Given the description of an element on the screen output the (x, y) to click on. 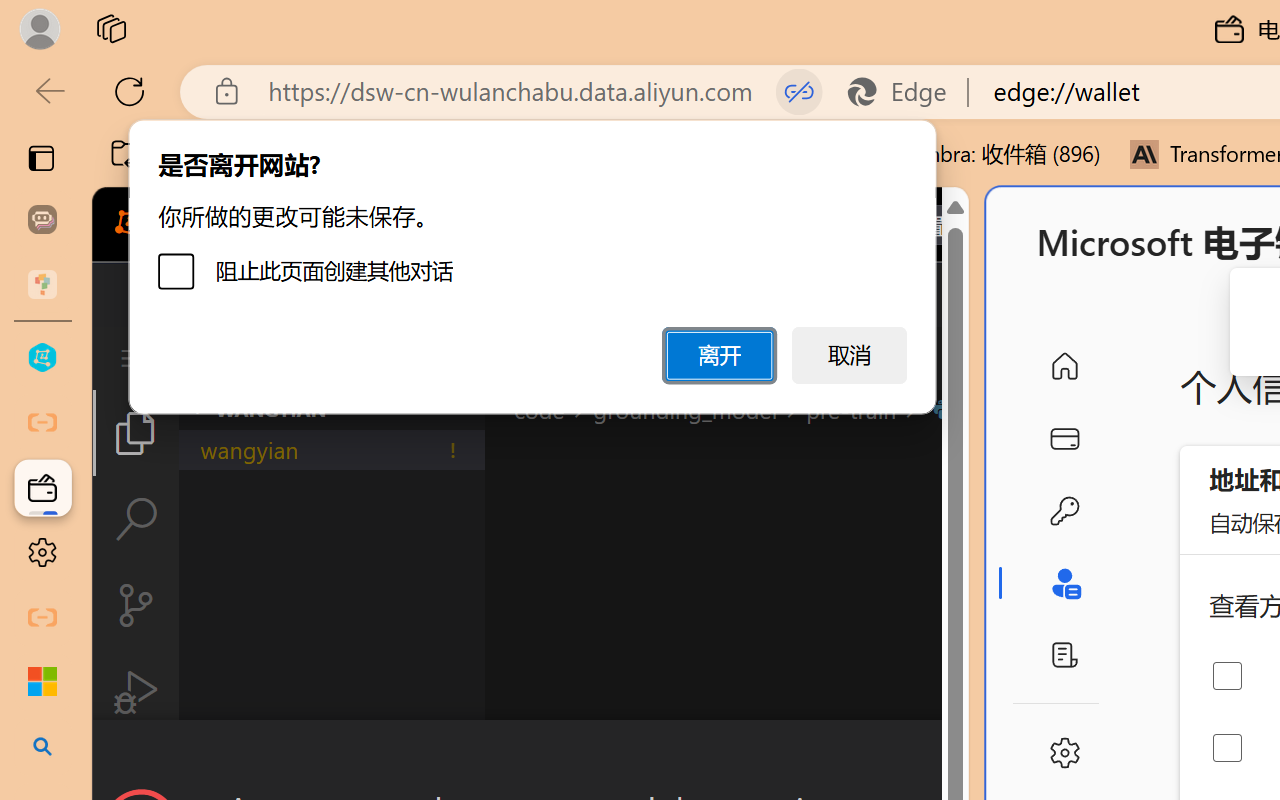
Microsoft security help and learning (42, 681)
Class: actions-container (529, 756)
Close Dialog (959, 756)
